Given the description of an element on the screen output the (x, y) to click on. 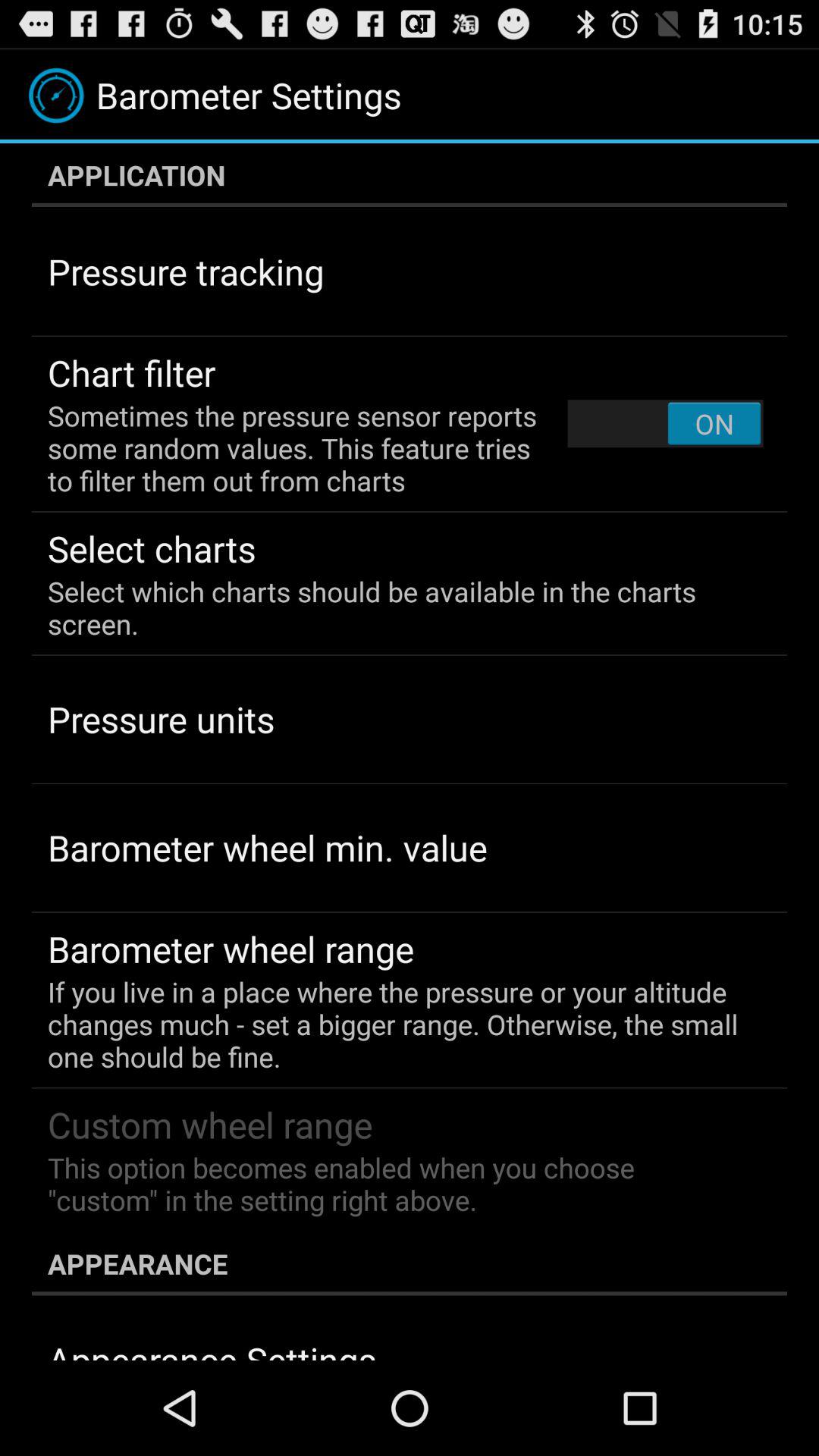
turn off the icon to the right of the sometimes the pressure icon (665, 423)
